Given the description of an element on the screen output the (x, y) to click on. 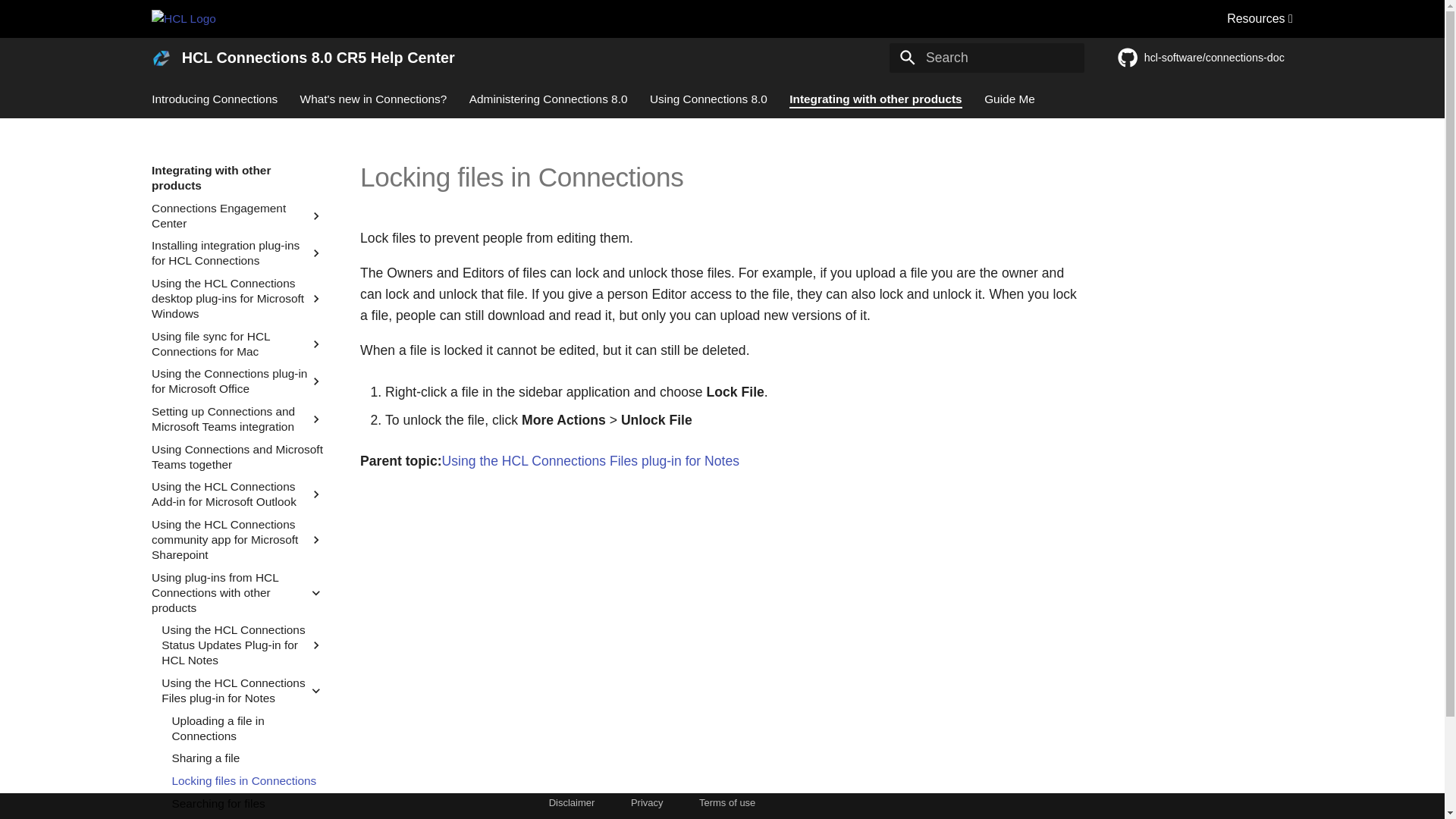
Introducing Connections (214, 98)
Resources (1259, 18)
HCL Connections 8.0 CR5 Help Center (160, 57)
Integrating with other products (874, 98)
What's new in Connections? (372, 98)
Guide Me (1009, 98)
Go to repository (1205, 57)
Using Connections 8.0 (708, 98)
Administering Connections 8.0 (547, 98)
